Given the description of an element on the screen output the (x, y) to click on. 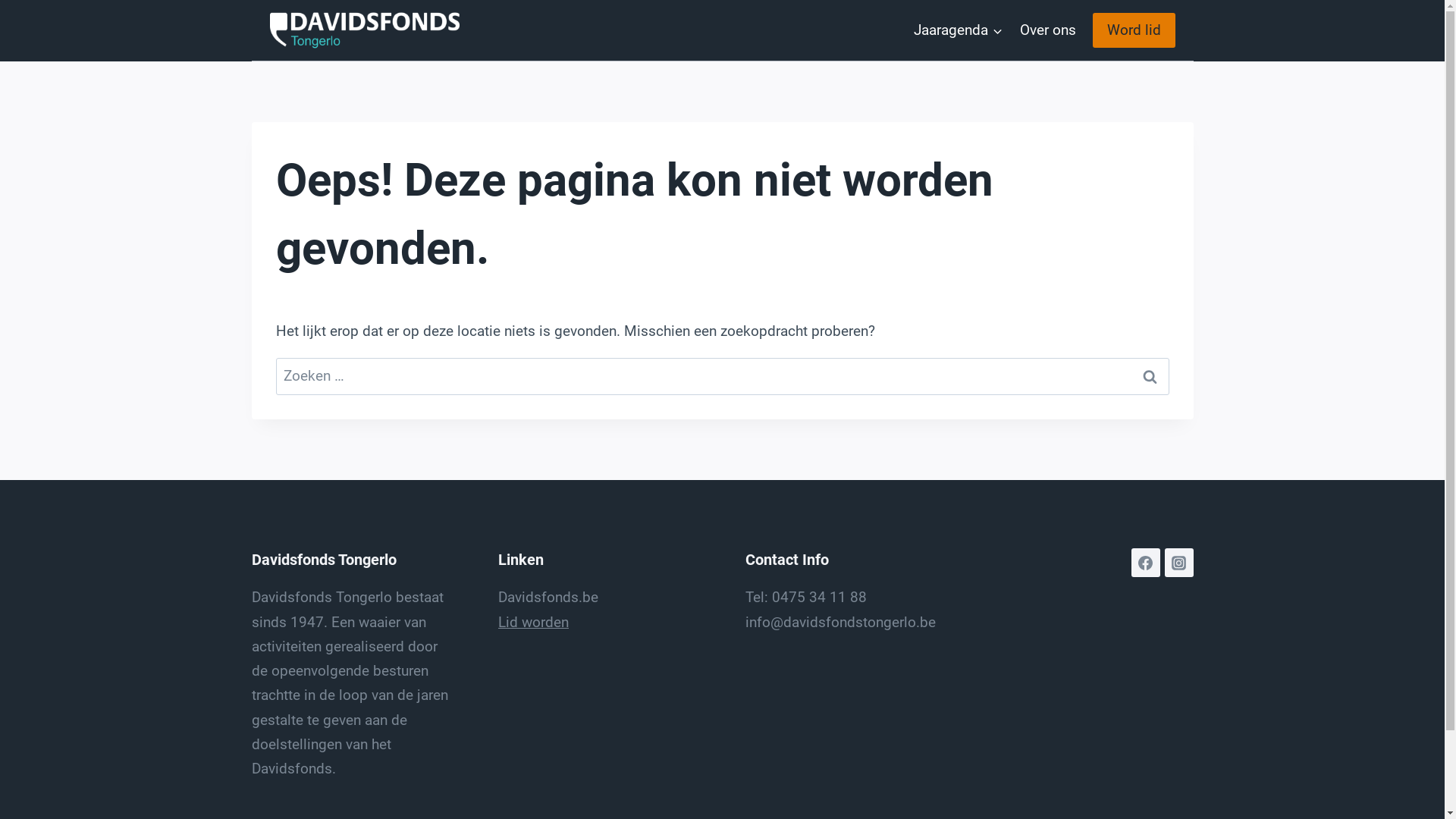
Word lid Element type: text (1133, 29)
Davidsfonds.be Element type: text (548, 596)
Lid worden Element type: text (533, 621)
Jaaragenda Element type: text (958, 29)
Zoeken Element type: text (1150, 376)
Over ons Element type: text (1048, 29)
